Given the description of an element on the screen output the (x, y) to click on. 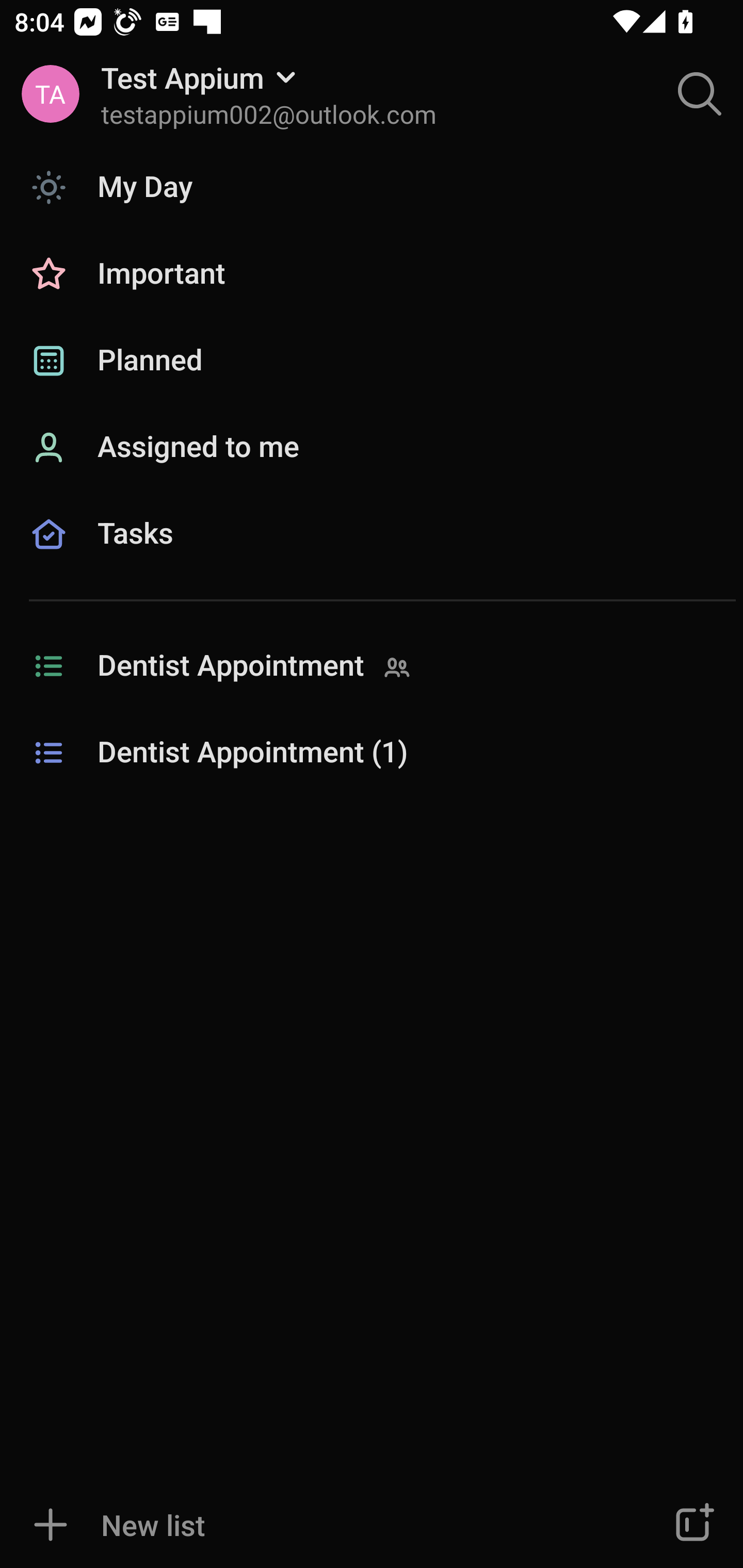
Enter search (699, 93)
My Day, 0 tasks My Day (371, 187)
Important, 0 tasks Important (371, 274)
Planned, 0 tasks Planned (371, 361)
Assigned to me, 0 tasks Assigned to me (371, 447)
Tasks (371, 556)
Dentist Appointment (1) (371, 753)
New list (312, 1524)
Create group (692, 1524)
